Given the description of an element on the screen output the (x, y) to click on. 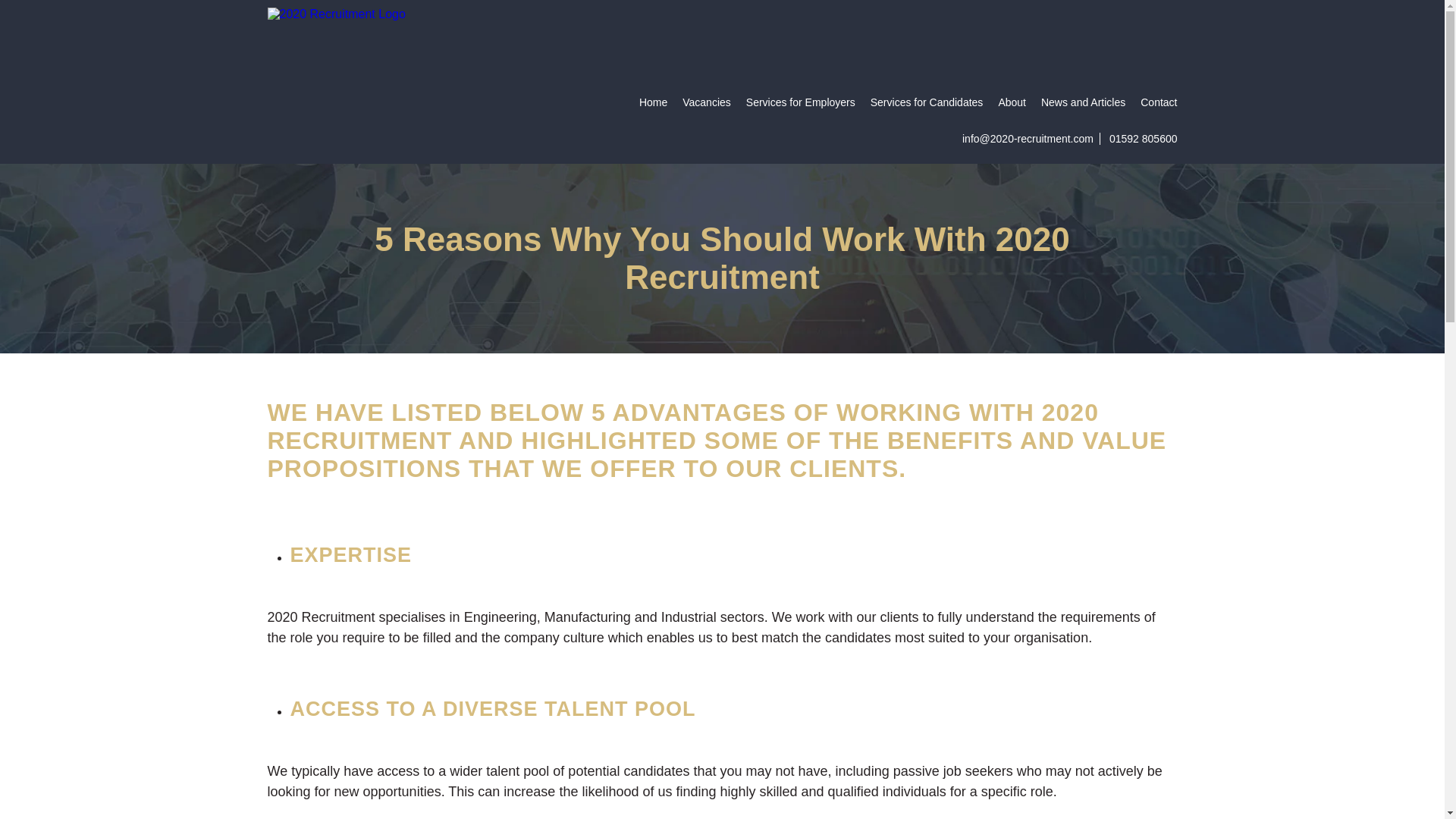
News and Articles (1083, 102)
Vacancies (706, 102)
Services for Candidates (927, 102)
Contact (1158, 102)
Services for Employers (800, 102)
